Given the description of an element on the screen output the (x, y) to click on. 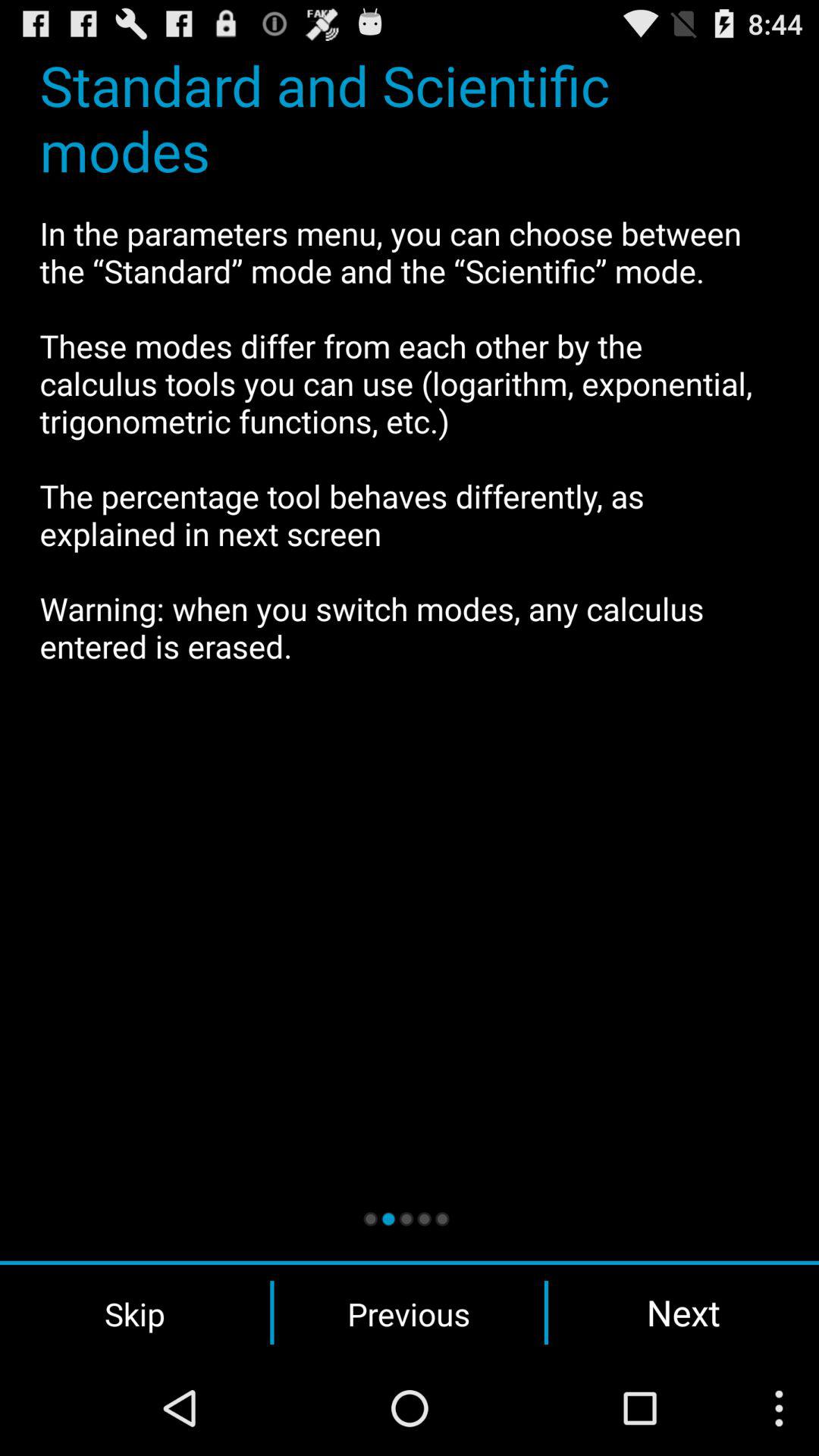
launch the next button (683, 1312)
